Given the description of an element on the screen output the (x, y) to click on. 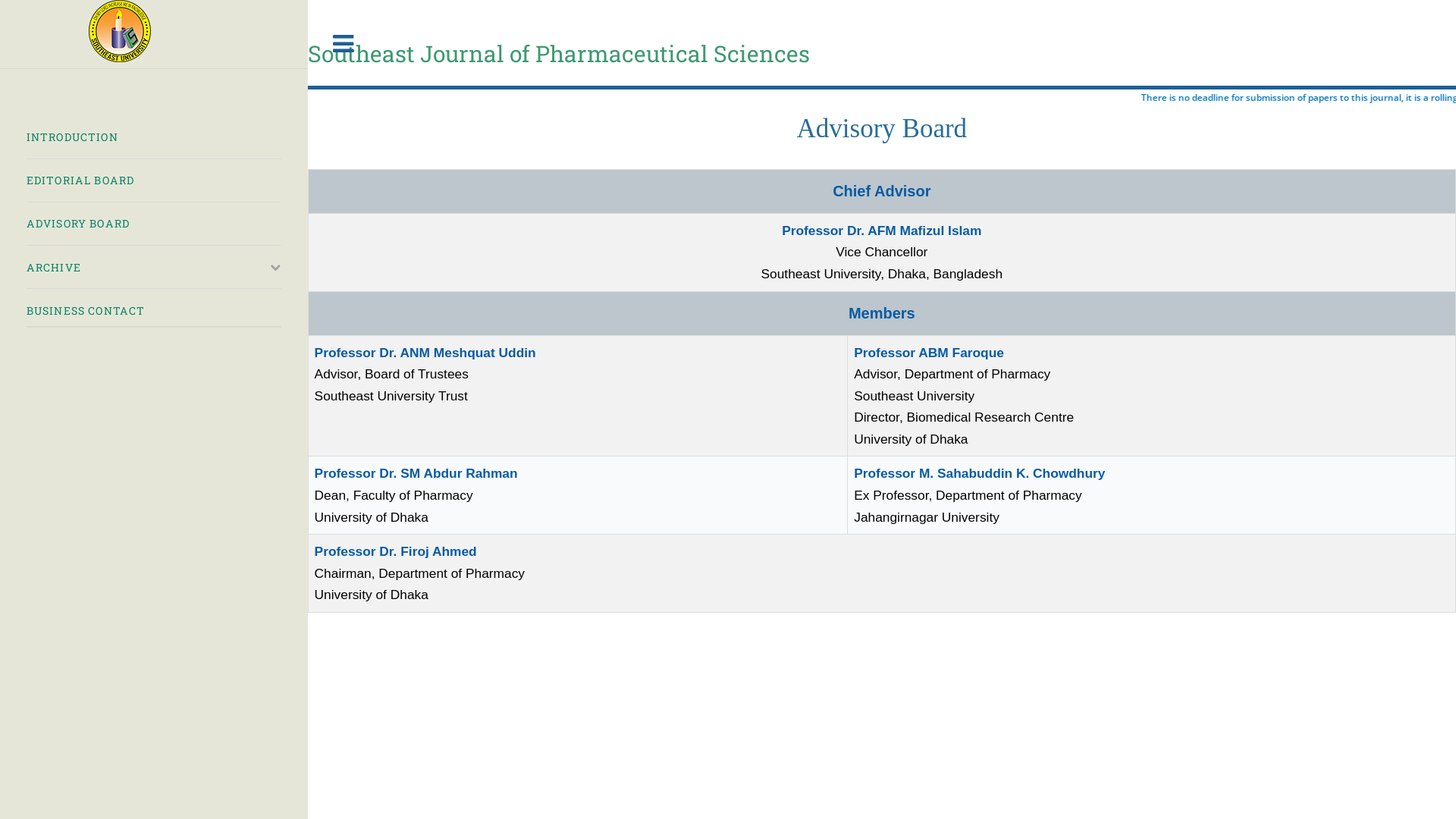
BUSINESS CONTACT Element type: text (153, 310)
INTRODUCTION Element type: text (153, 136)
Toggle Element type: text (343, 44)
EDITORIAL BOARD Element type: text (153, 179)
ADVISORY BOARD Element type: text (153, 223)
